Given the description of an element on the screen output the (x, y) to click on. 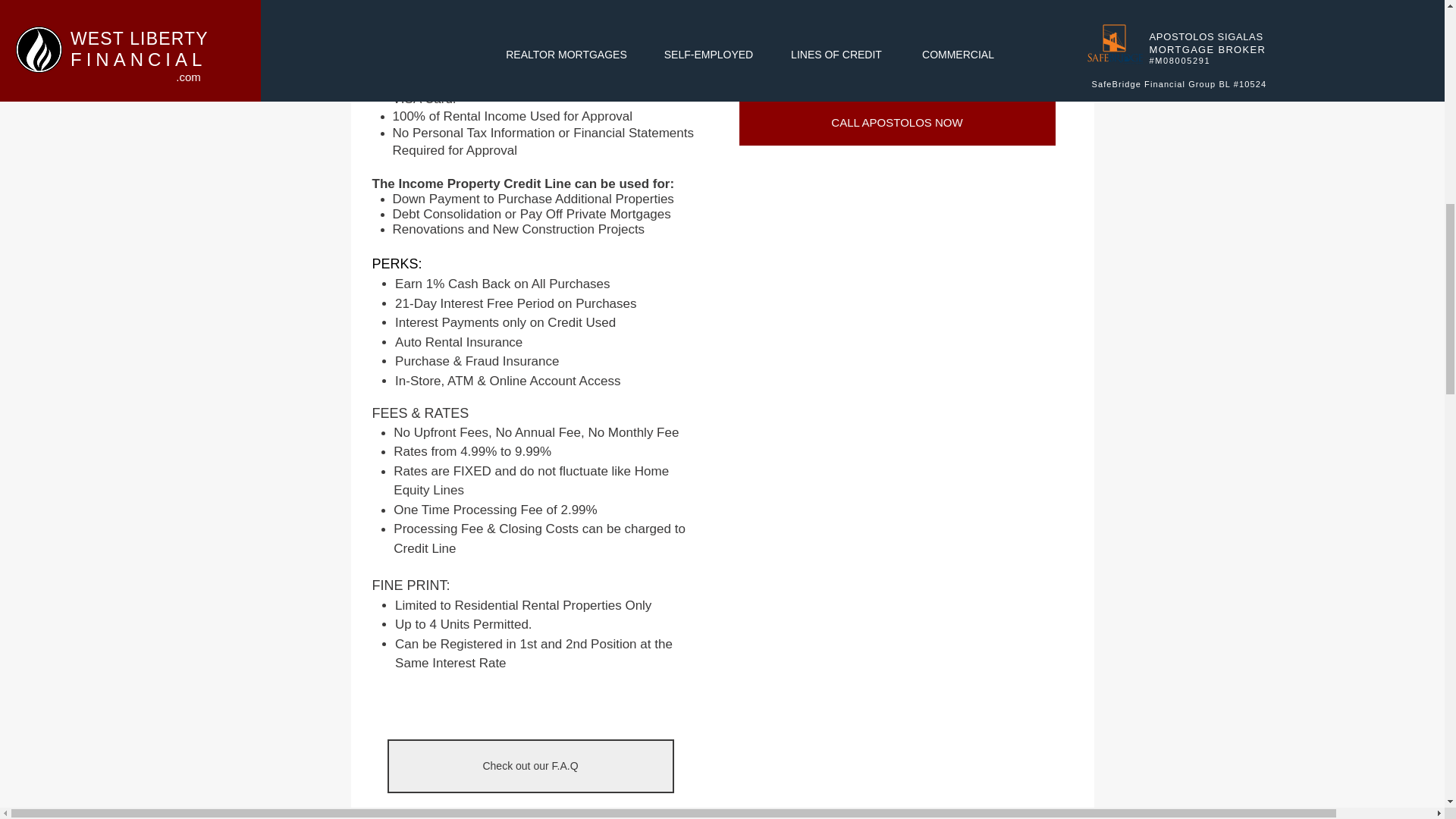
Check out our F.A.Q (529, 766)
CALL APOSTOLOS NOW (896, 121)
BOOK A CALL (896, 42)
